Given the description of an element on the screen output the (x, y) to click on. 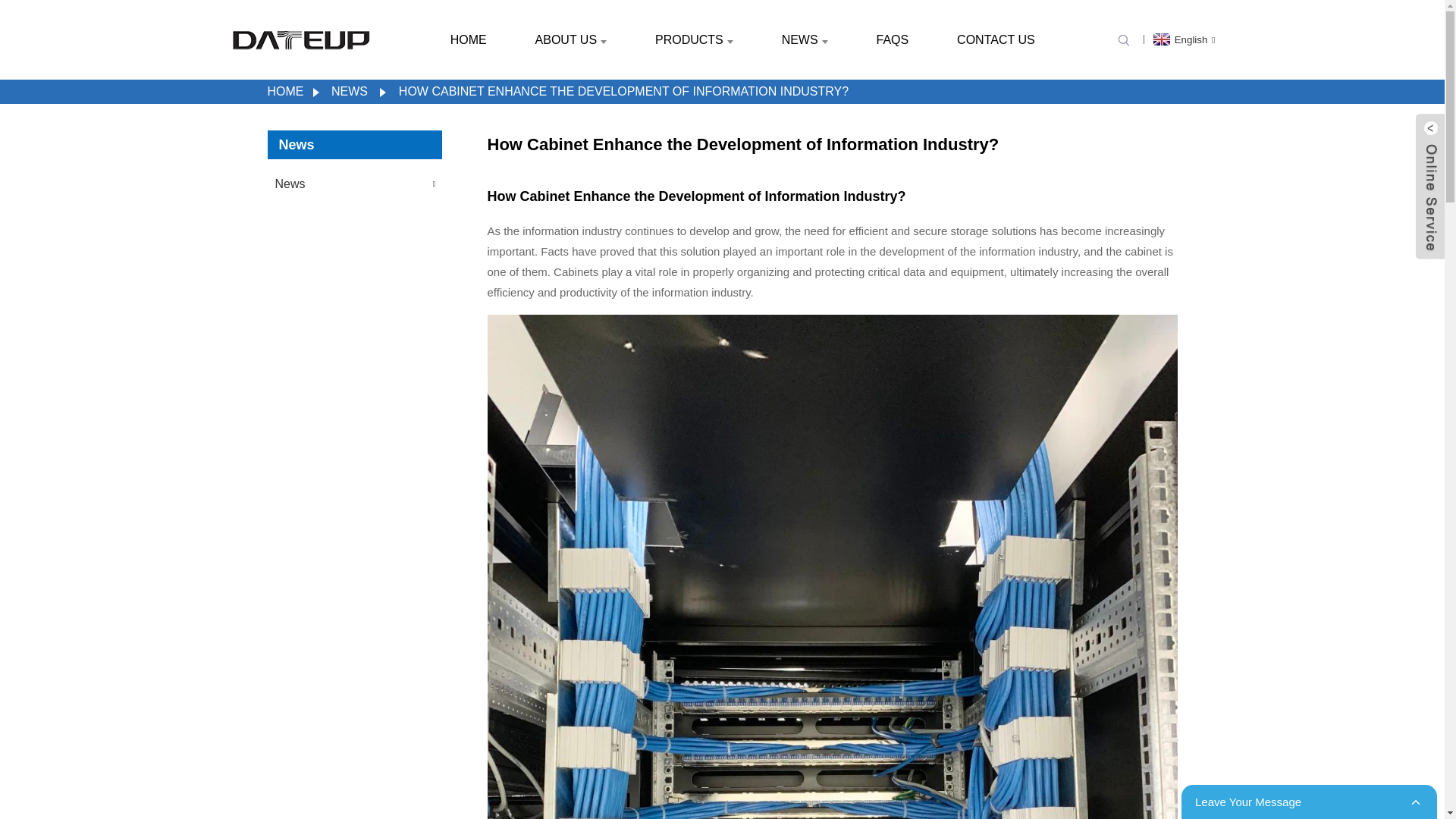
HOME (468, 39)
English (1182, 39)
NEWS (805, 39)
PRODUCTS (694, 39)
FAQS (892, 39)
CONTACT US (995, 39)
ABOUT US (571, 39)
